Given the description of an element on the screen output the (x, y) to click on. 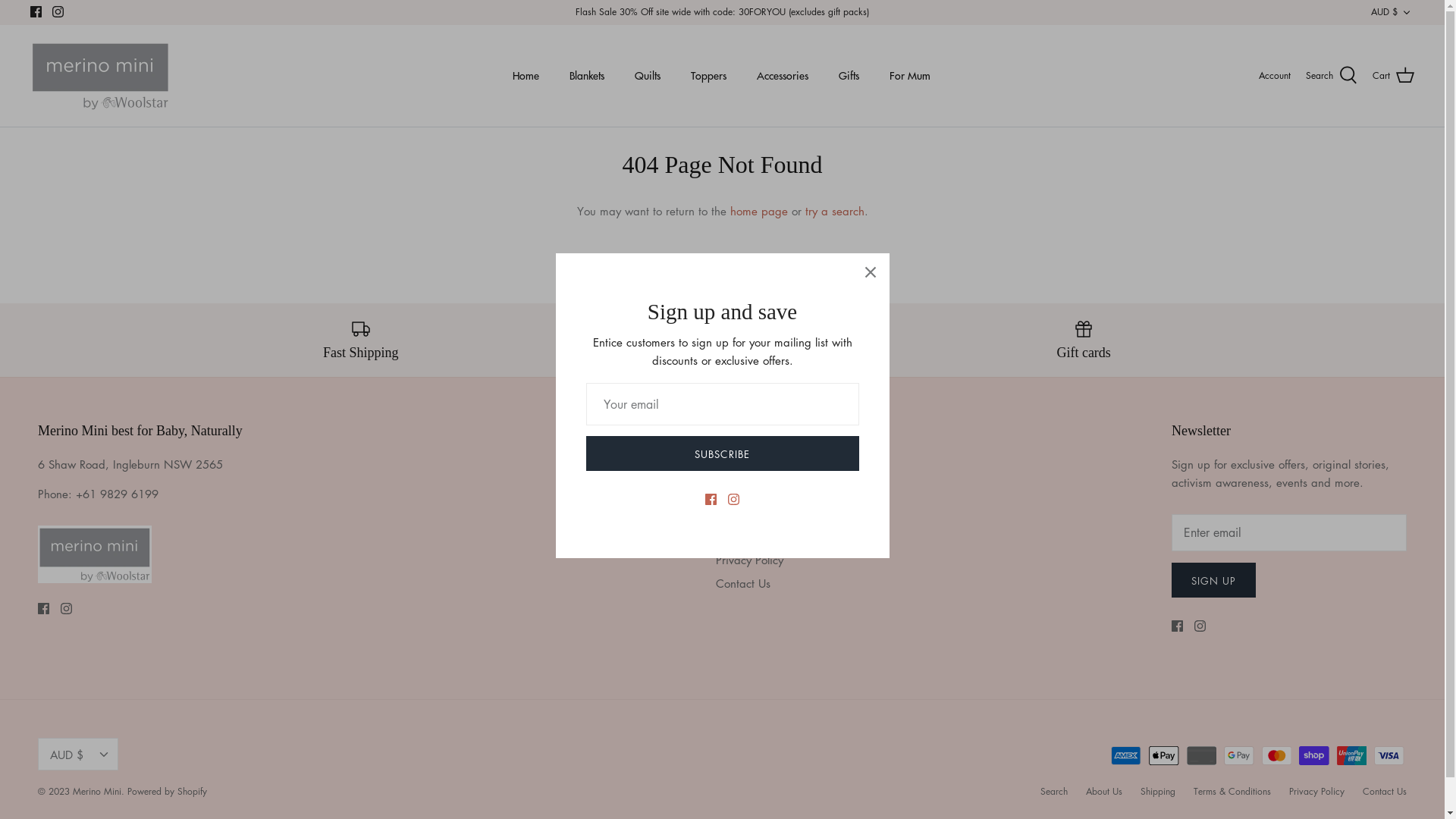
SUBSCRIBE Element type: text (721, 453)
Blankets Element type: text (586, 75)
Terms & Conditions Element type: text (763, 534)
Toppers Element type: text (707, 75)
Home Element type: text (525, 75)
Account Element type: text (1274, 75)
Privacy Policy Element type: text (749, 559)
Facebook Element type: text (43, 608)
Privacy Policy Element type: text (1316, 790)
Powered by Shopify Element type: text (167, 790)
Merino Mini Element type: text (96, 790)
Facebook Element type: text (1177, 625)
Contact Us Element type: text (1384, 790)
Search Element type: text (1331, 75)
Instagram Element type: text (66, 608)
Quilts Element type: text (646, 75)
Facebook Element type: text (35, 11)
For Mum Element type: text (909, 75)
About Us Element type: text (738, 487)
Accessories Element type: text (782, 75)
home page Element type: text (758, 210)
Terms & Conditions Element type: text (1231, 790)
Gifts Element type: text (848, 75)
Search Element type: text (1053, 790)
SIGN UP Element type: text (1213, 579)
Instagram Element type: text (1199, 625)
AUD $
Down Element type: text (1392, 12)
Cart Element type: text (1393, 75)
try a search Element type: text (834, 210)
Merino Mini Element type: hover (100, 75)
Shipping Element type: text (737, 511)
About Us Element type: text (1103, 790)
Shipping Element type: text (1157, 790)
Contact Us Element type: text (742, 582)
Search Element type: text (732, 463)
AUD $
Down Element type: text (77, 753)
Instagram Element type: text (57, 11)
